Given the description of an element on the screen output the (x, y) to click on. 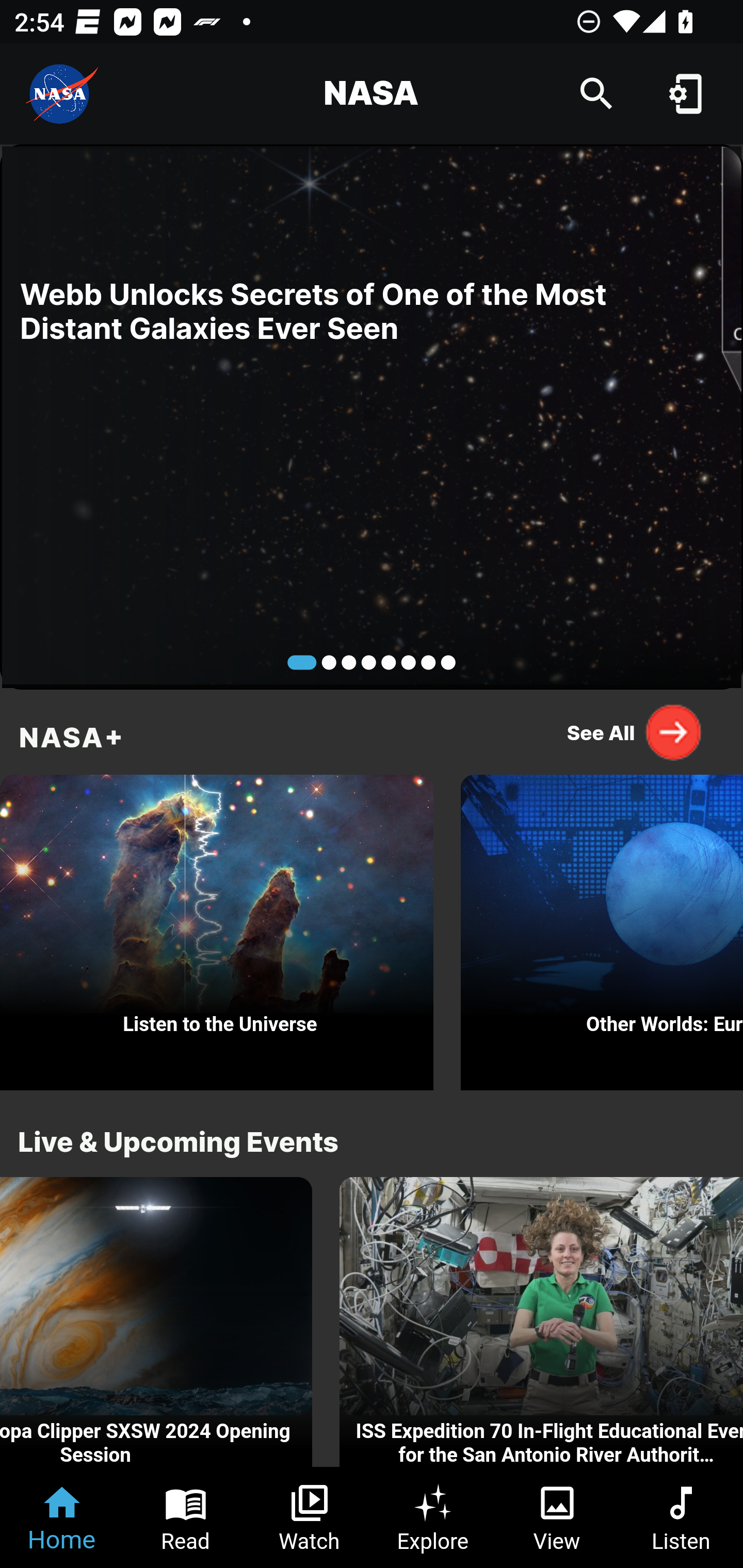
See All (634, 732)
Listen to the Universe (216, 927)
Other Worlds: Europa (601, 927)
NASA's Europa Clipper SXSW 2024 Opening Session (156, 1322)
Home
Tab 1 of 6 (62, 1517)
Read
Tab 2 of 6 (185, 1517)
Watch
Tab 3 of 6 (309, 1517)
Explore
Tab 4 of 6 (433, 1517)
View
Tab 5 of 6 (556, 1517)
Listen
Tab 6 of 6 (680, 1517)
